Given the description of an element on the screen output the (x, y) to click on. 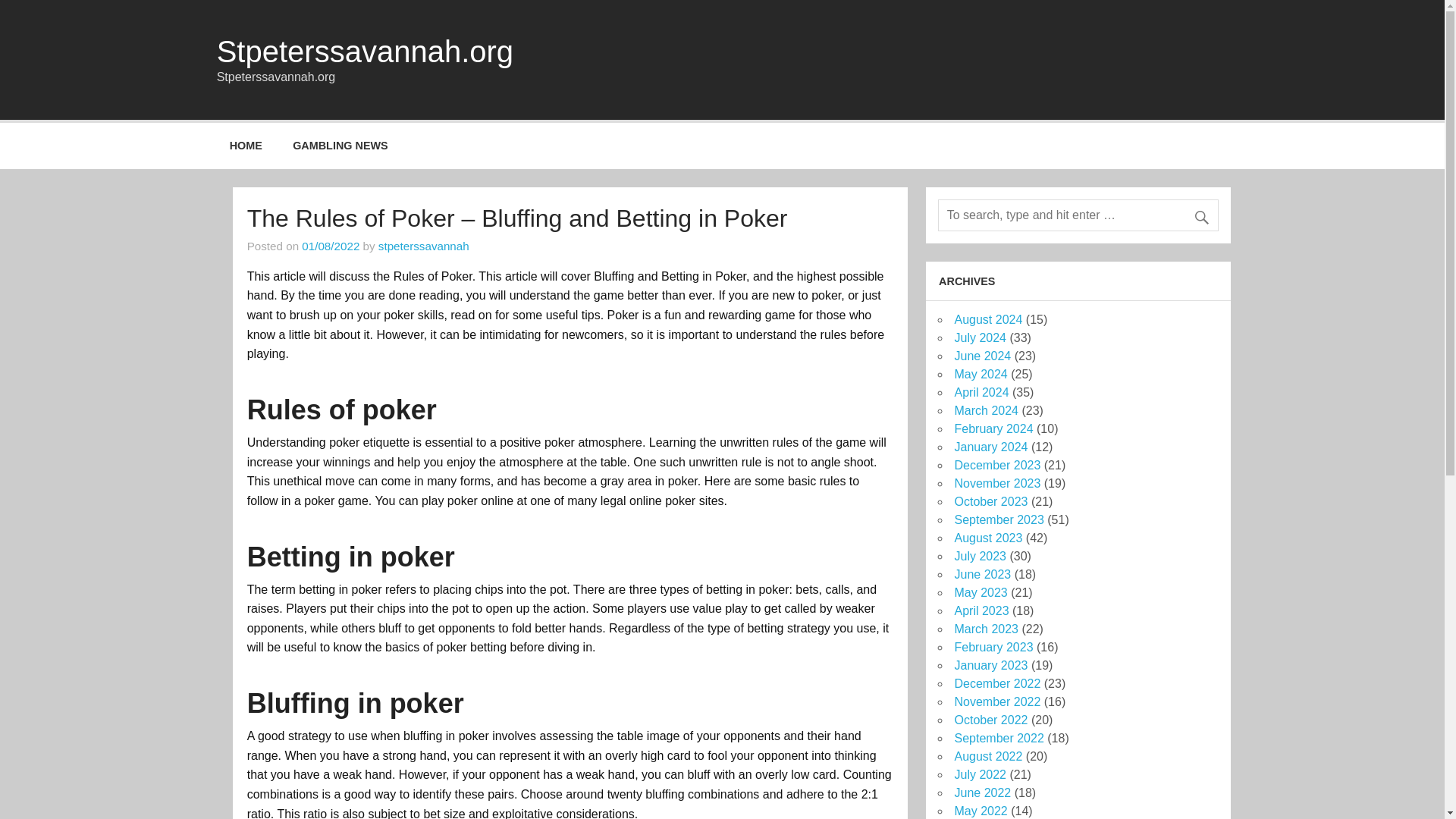
February 2024 (992, 428)
November 2022 (997, 701)
July 2022 (979, 774)
stpeterssavannah (423, 245)
GAMBLING NEWS (340, 145)
August 2023 (987, 537)
View all posts by stpeterssavannah (423, 245)
July 2023 (979, 555)
June 2024 (981, 355)
October 2022 (990, 719)
